Given the description of an element on the screen output the (x, y) to click on. 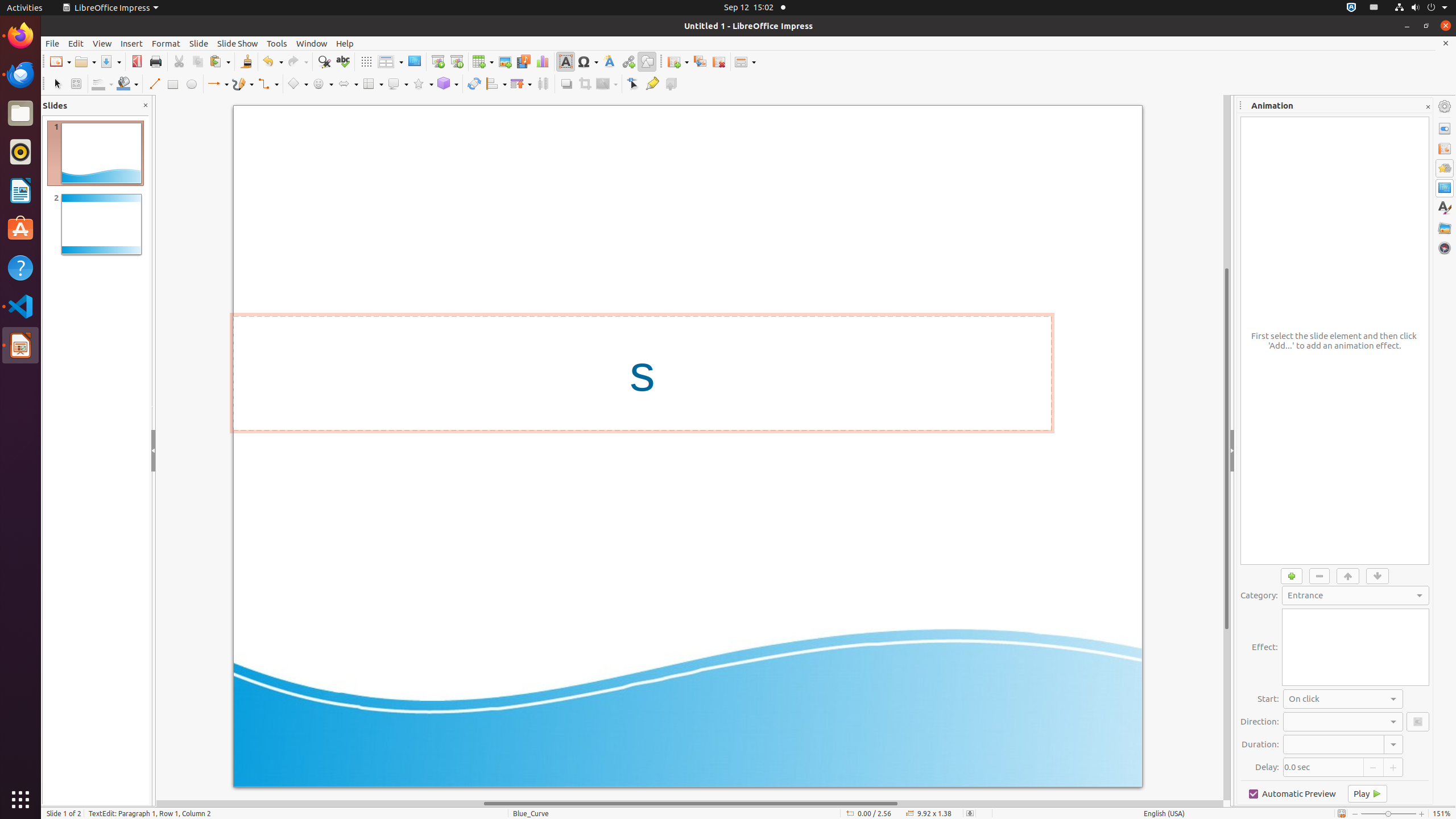
Display Views Element type: push-button (389, 61)
Add Effect Element type: push-button (1291, 576)
Zoom & Pan Element type: push-button (75, 83)
